Given the description of an element on the screen output the (x, y) to click on. 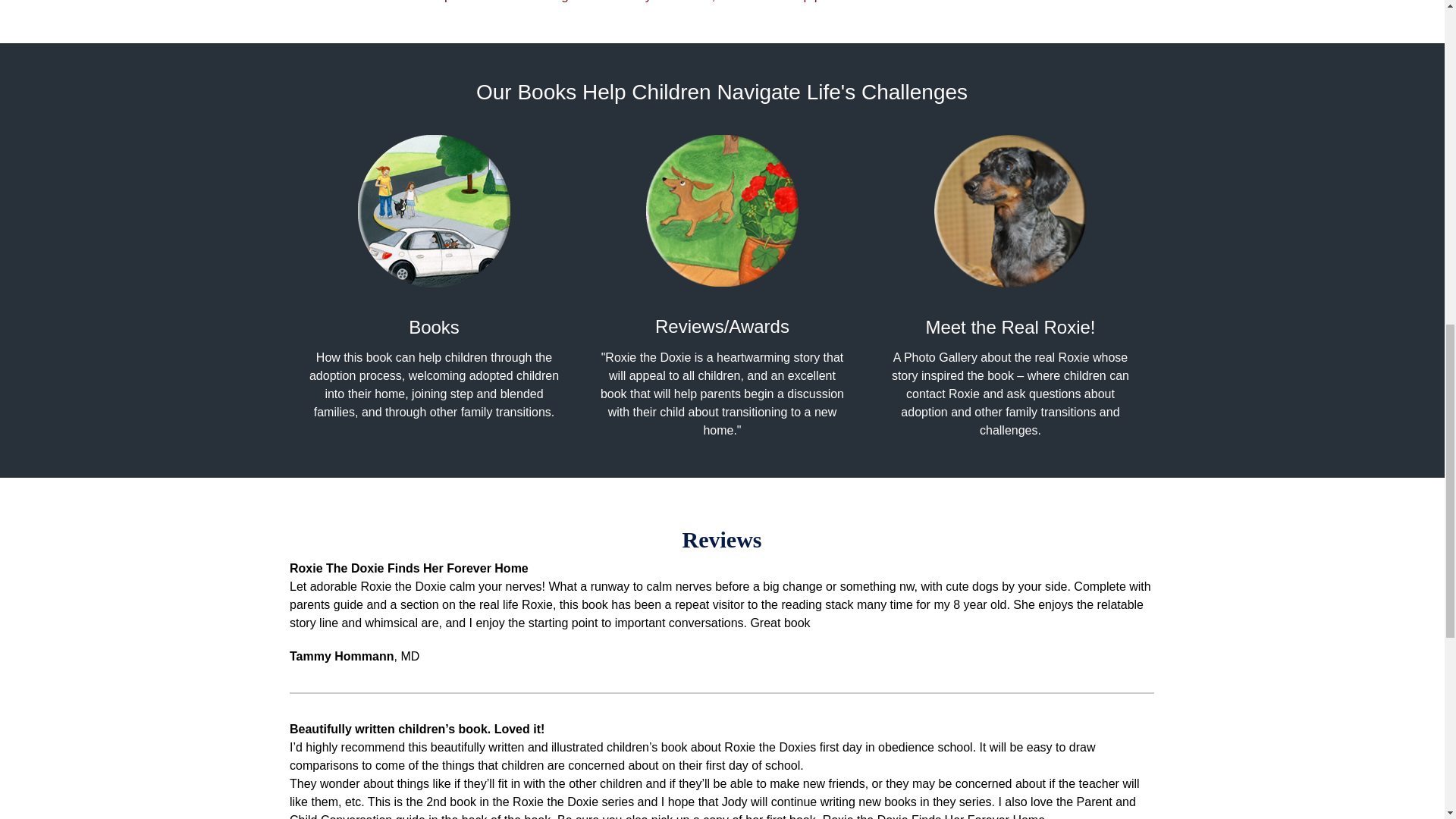
Meet the Real Roxie! (1009, 326)
